Given the description of an element on the screen output the (x, y) to click on. 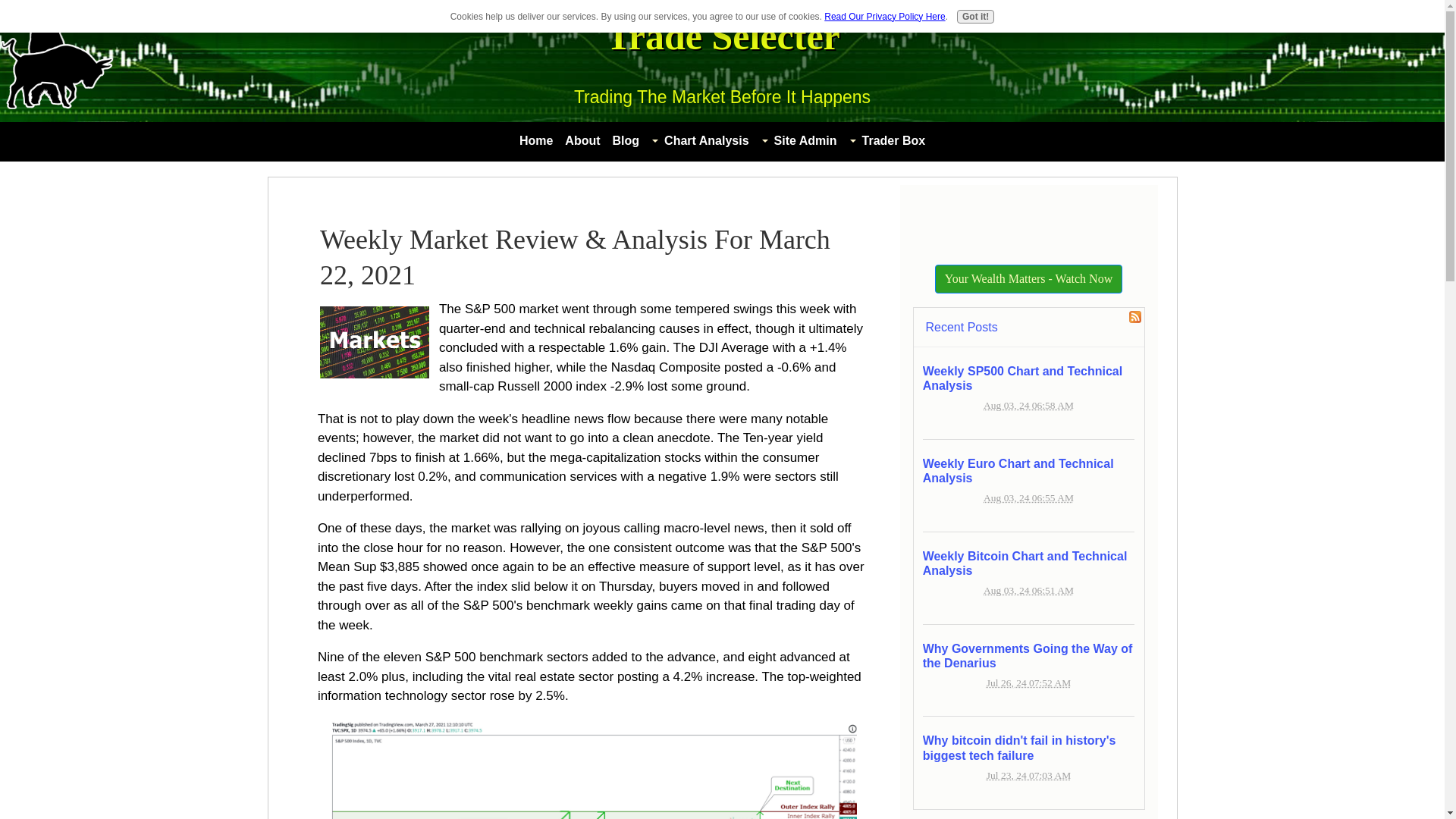
2024-08-03T06:58:27-0400 (1029, 405)
2024-07-23T07:03:43-0400 (1028, 775)
2024-08-03T06:51:14-0400 (1029, 590)
About (582, 140)
2024-07-26T07:52:55-0400 (1028, 682)
Blog (626, 140)
Home (536, 140)
Trade Selecter (722, 36)
2024-08-03T06:55:14-0400 (1029, 497)
